Given the description of an element on the screen output the (x, y) to click on. 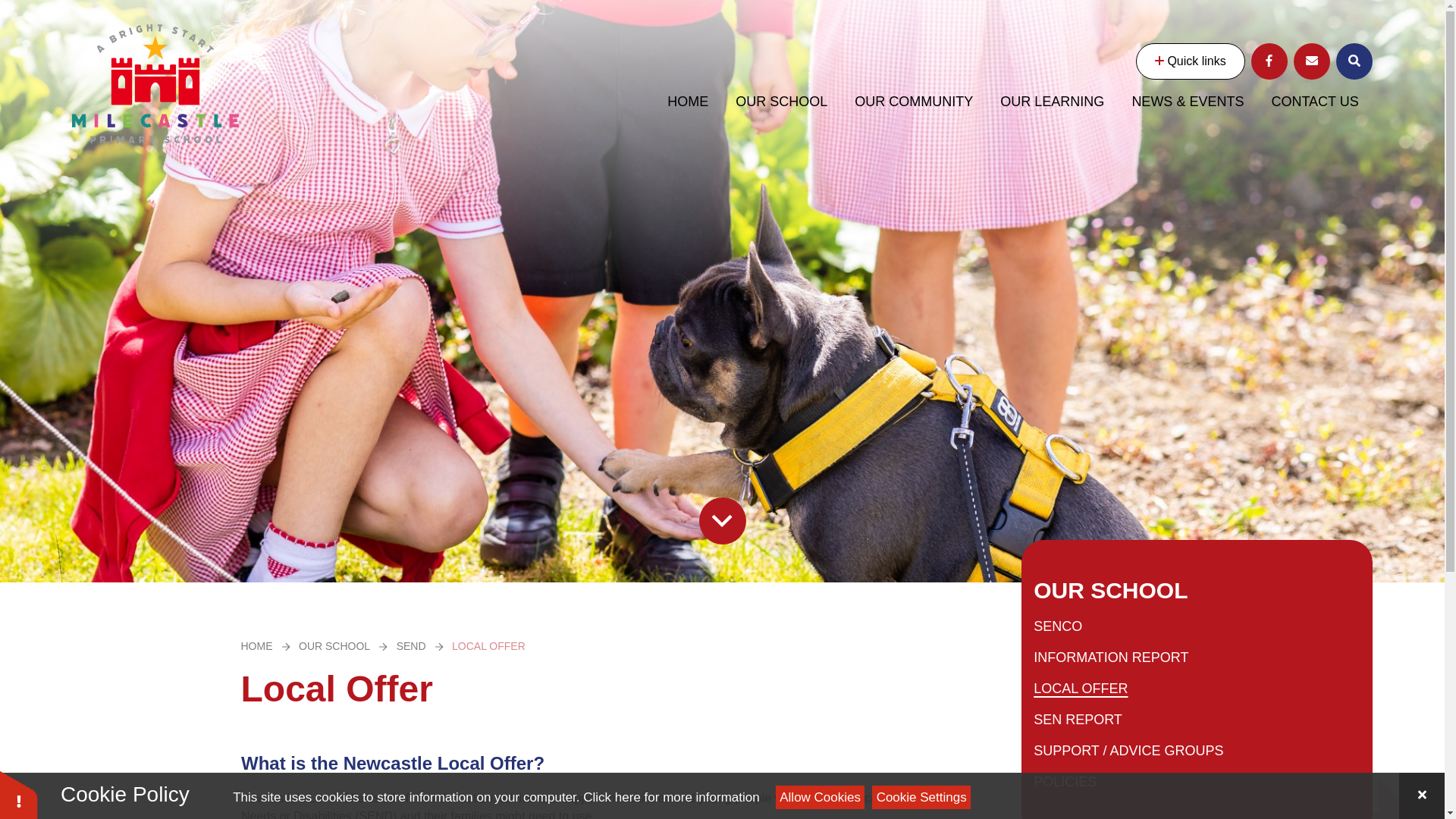
Facebook (1268, 61)
Quick links (1189, 61)
Contact Us (1312, 61)
OUR COMMUNITY (914, 102)
HOME (687, 102)
OUR SCHOOL (781, 102)
